Given the description of an element on the screen output the (x, y) to click on. 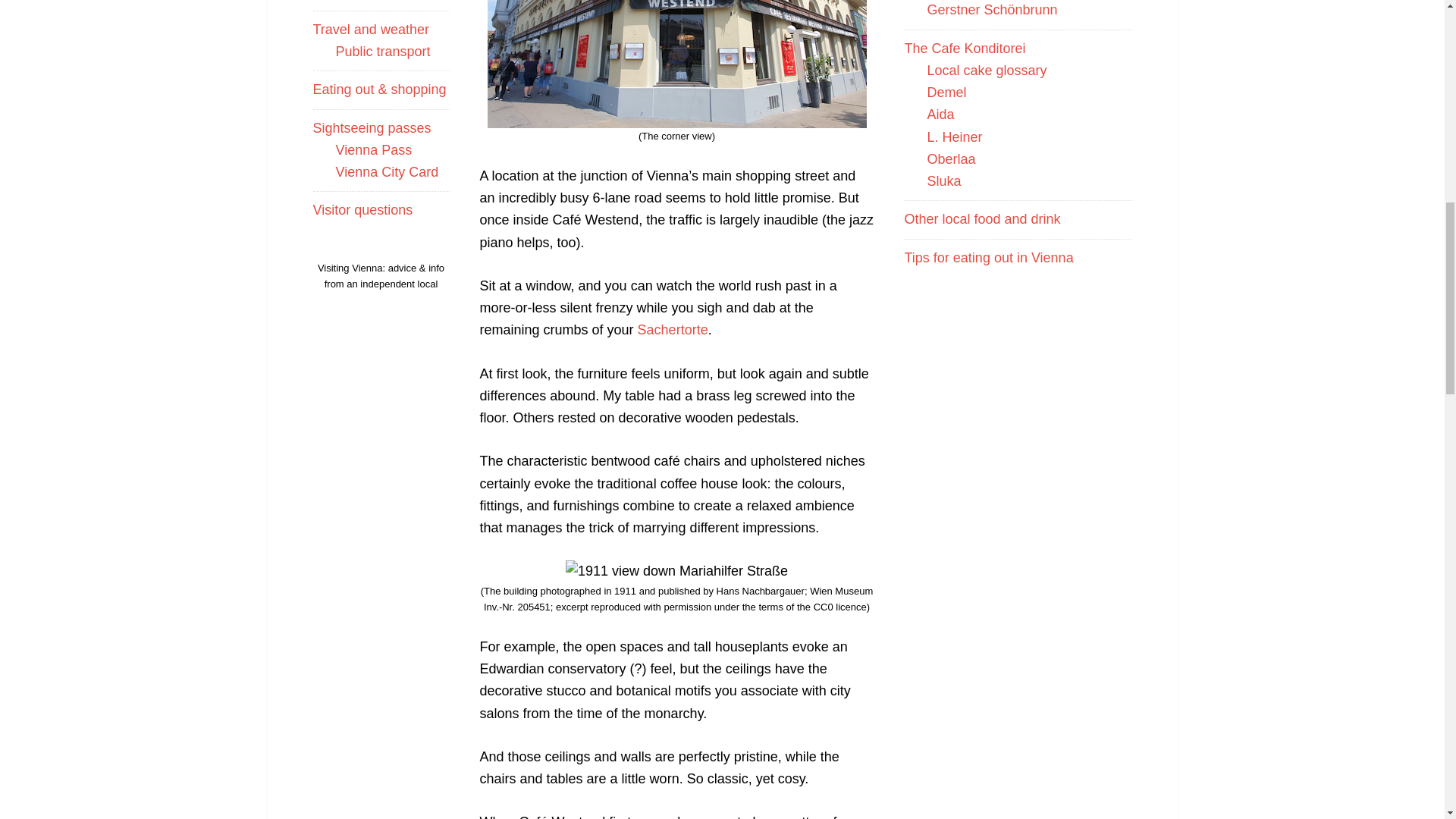
Local cake glossary (986, 70)
The Cafe Konditorei (964, 48)
Aida (939, 114)
Sachertorte (672, 329)
Demel (946, 92)
